Given the description of an element on the screen output the (x, y) to click on. 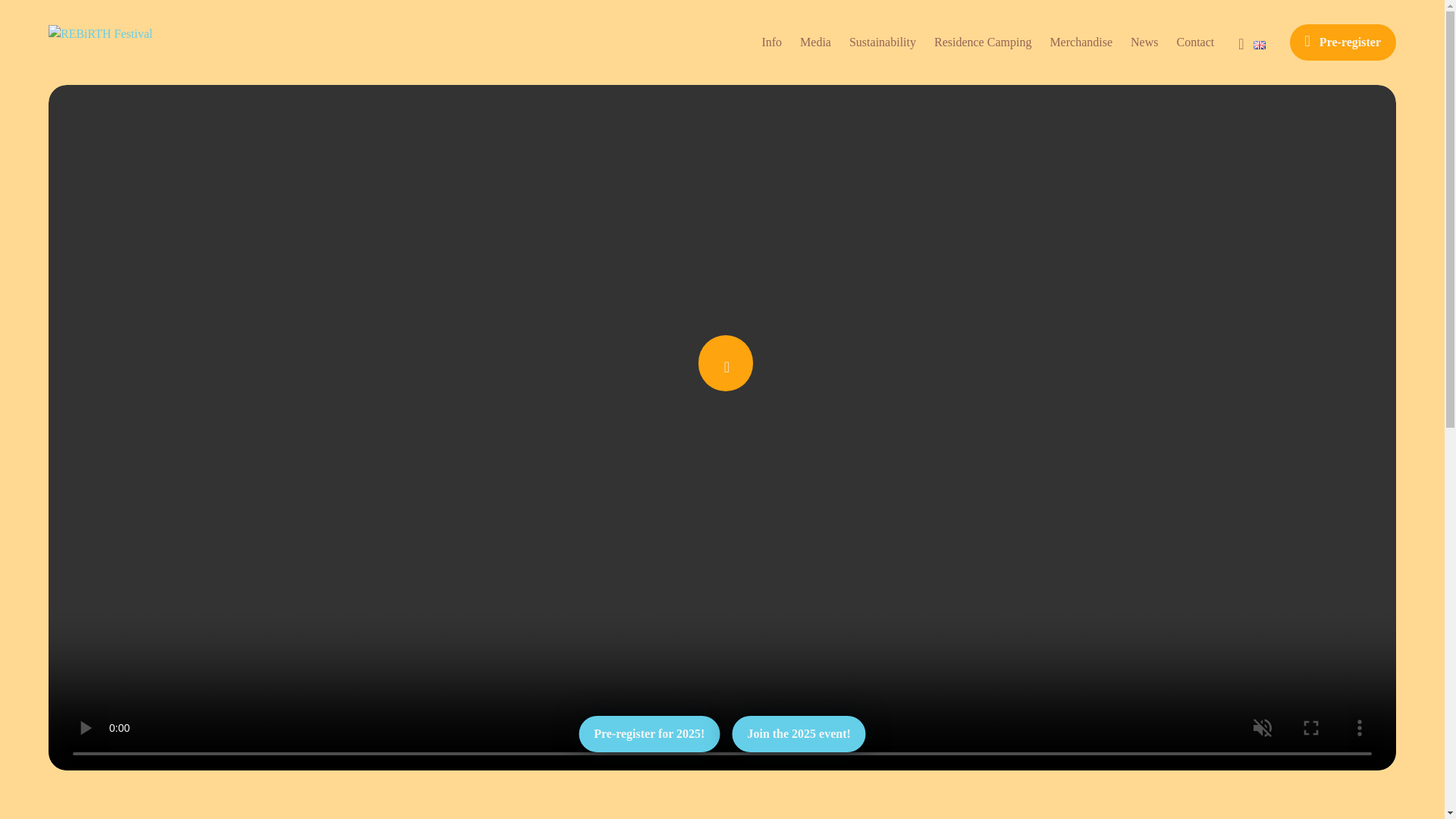
Join the 2025 event! (798, 733)
Media (815, 42)
Merchandise (1080, 42)
Pre-register for 2025! (648, 733)
Info (771, 42)
Sustainability (881, 42)
Contact (1195, 42)
News (1144, 42)
Residence Camping (982, 42)
Pre-register (1343, 42)
